Given the description of an element on the screen output the (x, y) to click on. 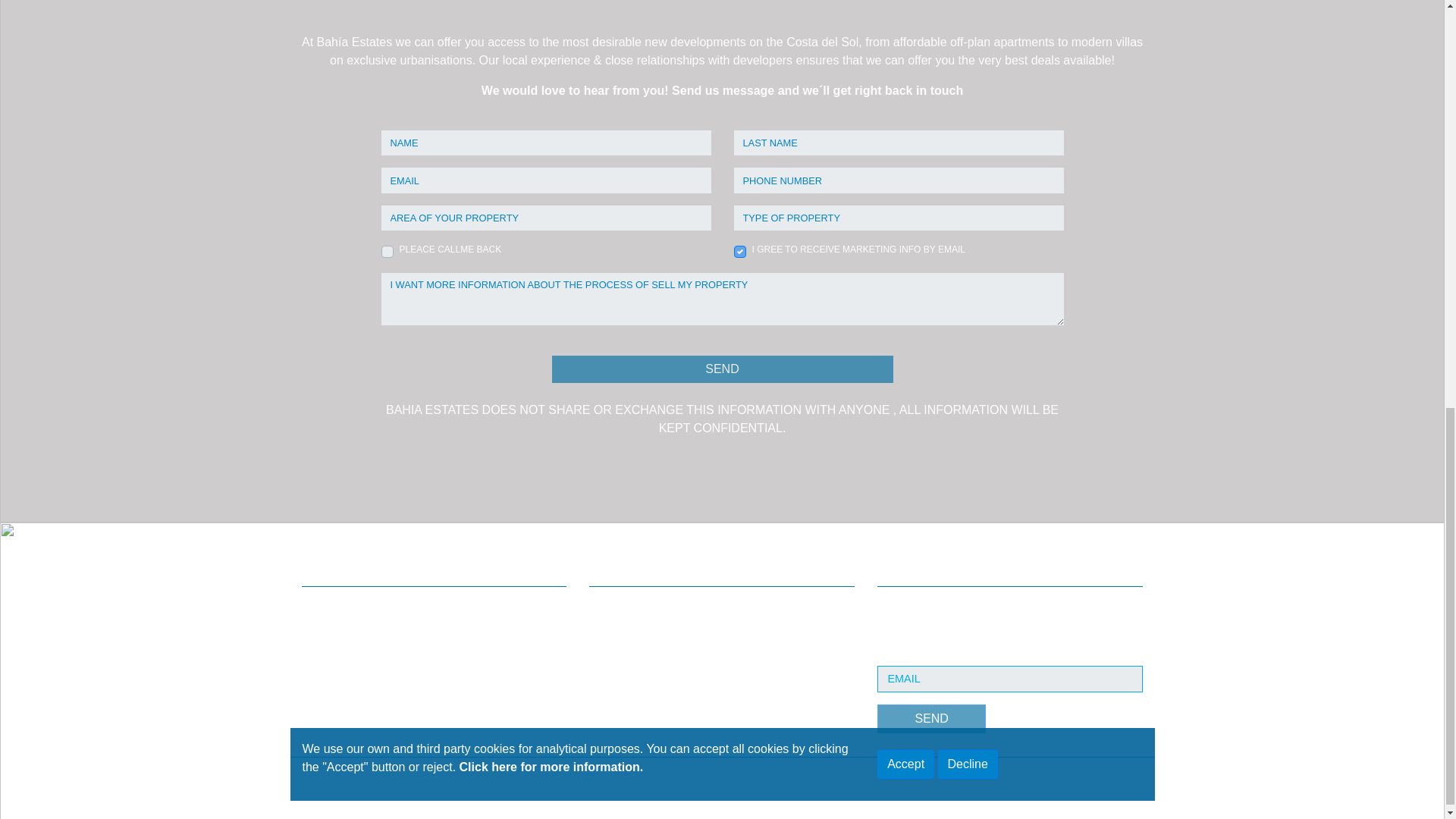
BEACHSIDE (327, 681)
NARAN-HO Design Marbella (708, 778)
ABOUT US (611, 608)
FEATURED VILLAS (342, 644)
BAHIA DE MARBELLA (347, 608)
CONTEMPORARY VILLAS (356, 626)
MARBELLA EAST (338, 663)
BLOG (601, 681)
SEND (722, 369)
LUXURY BEACHFRONT APARTMENTS (384, 736)
BUYING PROCESS (630, 644)
NEW DEVELOPMENTS (350, 717)
SERVICES (611, 626)
LIST WITH US (619, 663)
LOS MONTEROS (338, 699)
